Given the description of an element on the screen output the (x, y) to click on. 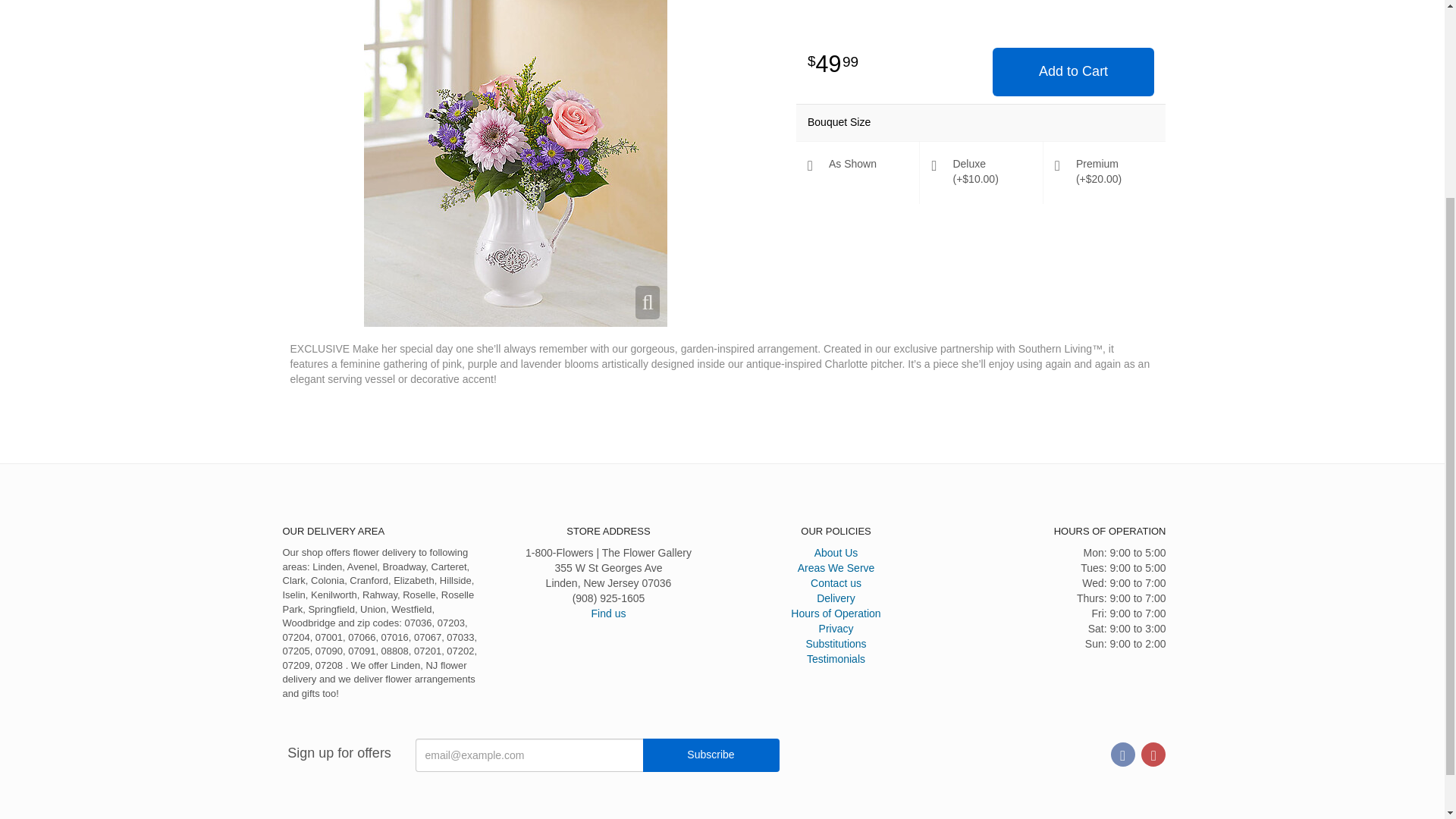
Subscribe (710, 755)
